Given the description of an element on the screen output the (x, y) to click on. 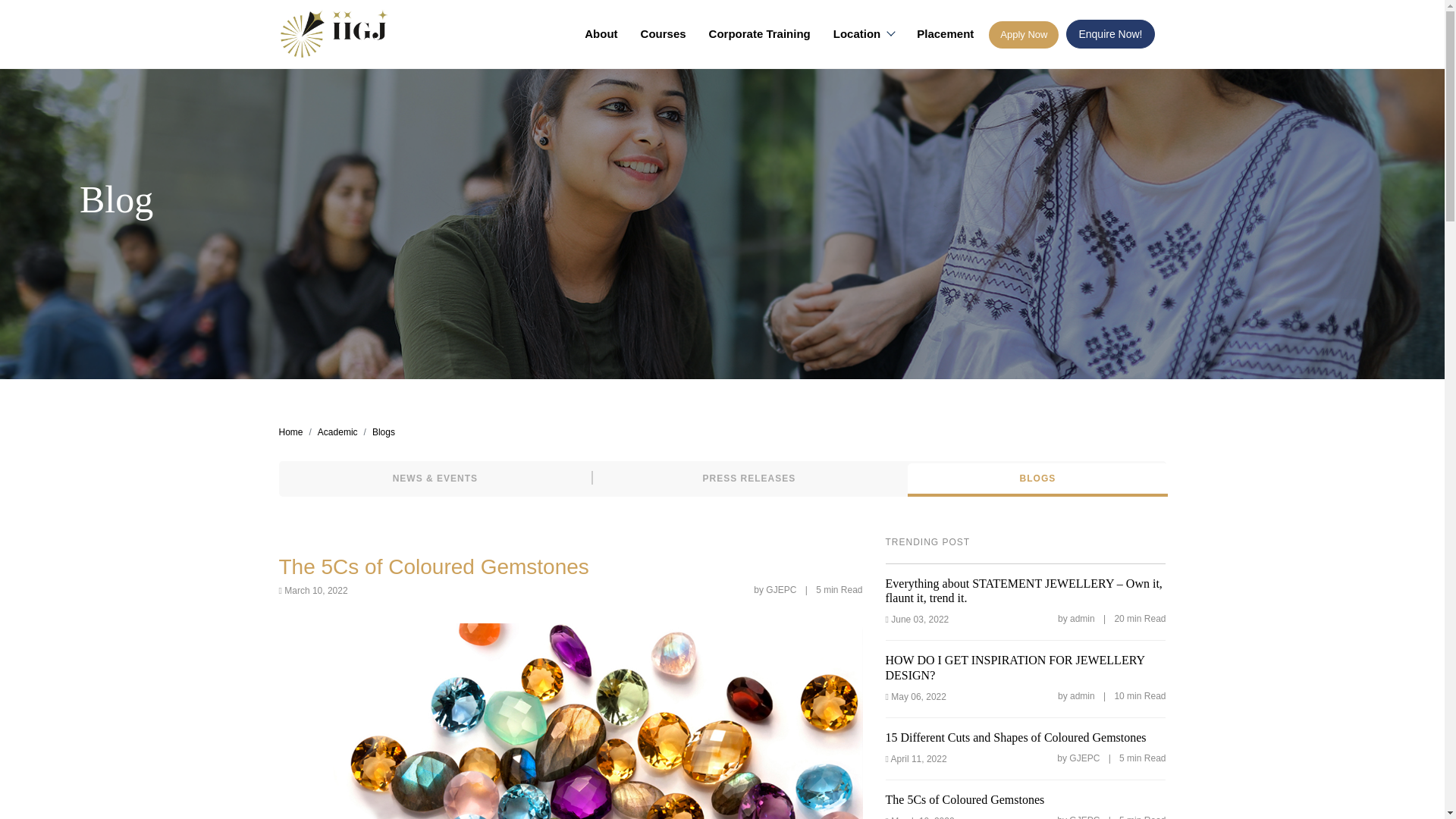
GJEPC (336, 33)
Enquire Now! (1109, 33)
BLOGS (1037, 479)
Academic (337, 432)
Apply Now (1023, 34)
Placement (944, 33)
PRESS RELEASES (748, 478)
About (600, 33)
Corporate Training (759, 33)
Courses (663, 33)
Home (290, 432)
Location (863, 33)
